Given the description of an element on the screen output the (x, y) to click on. 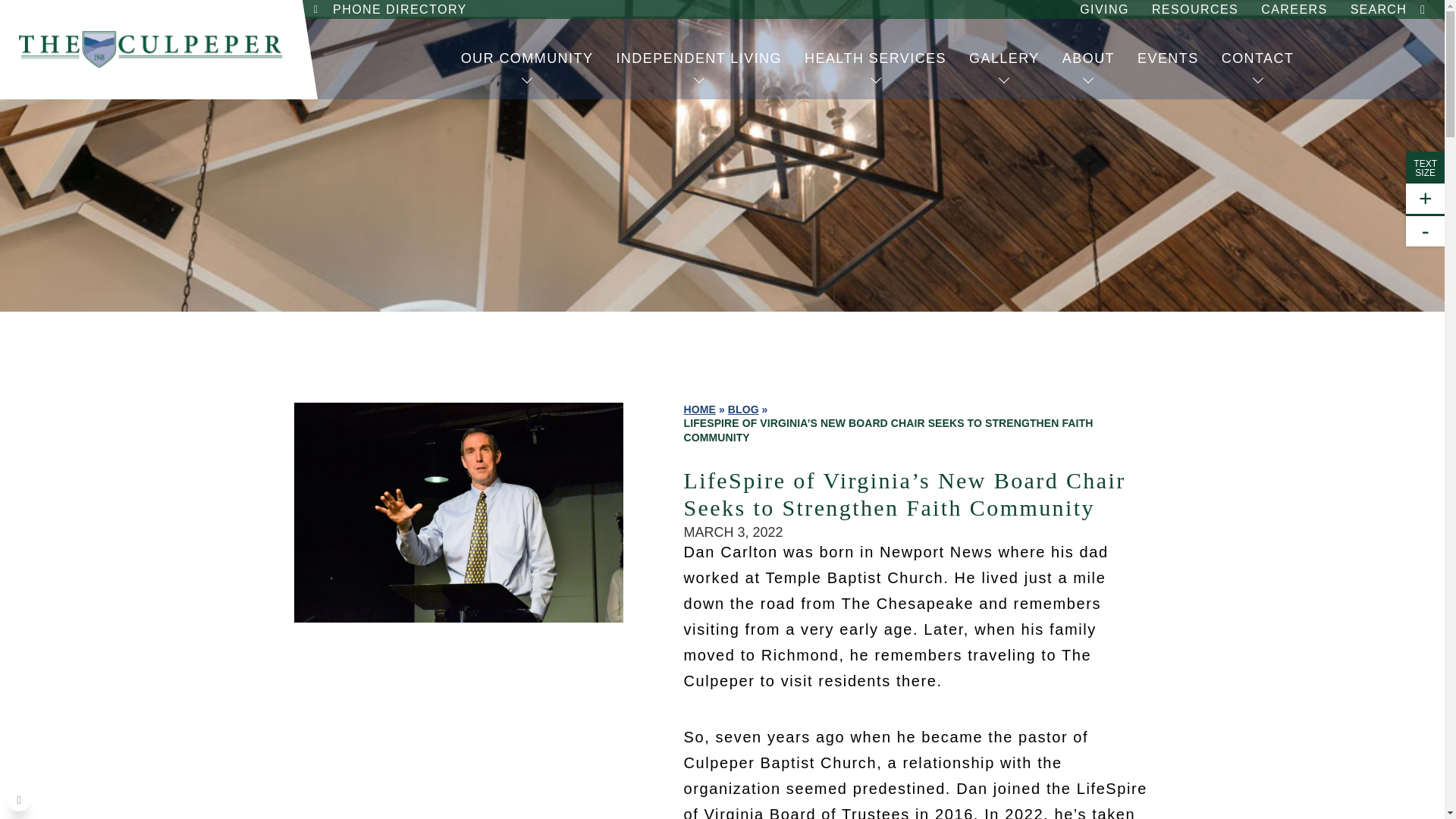
ABOUT (1088, 58)
HEALTH SERVICES (875, 58)
EVENTS (1167, 58)
RESOURCES (1194, 9)
BLOG (743, 409)
The Culpeper (150, 49)
CAREERS (1293, 9)
INDEPENDENT LIVING (698, 58)
OUR COMMUNITY (527, 58)
PHONE DIRECTORY (399, 9)
